Given the description of an element on the screen output the (x, y) to click on. 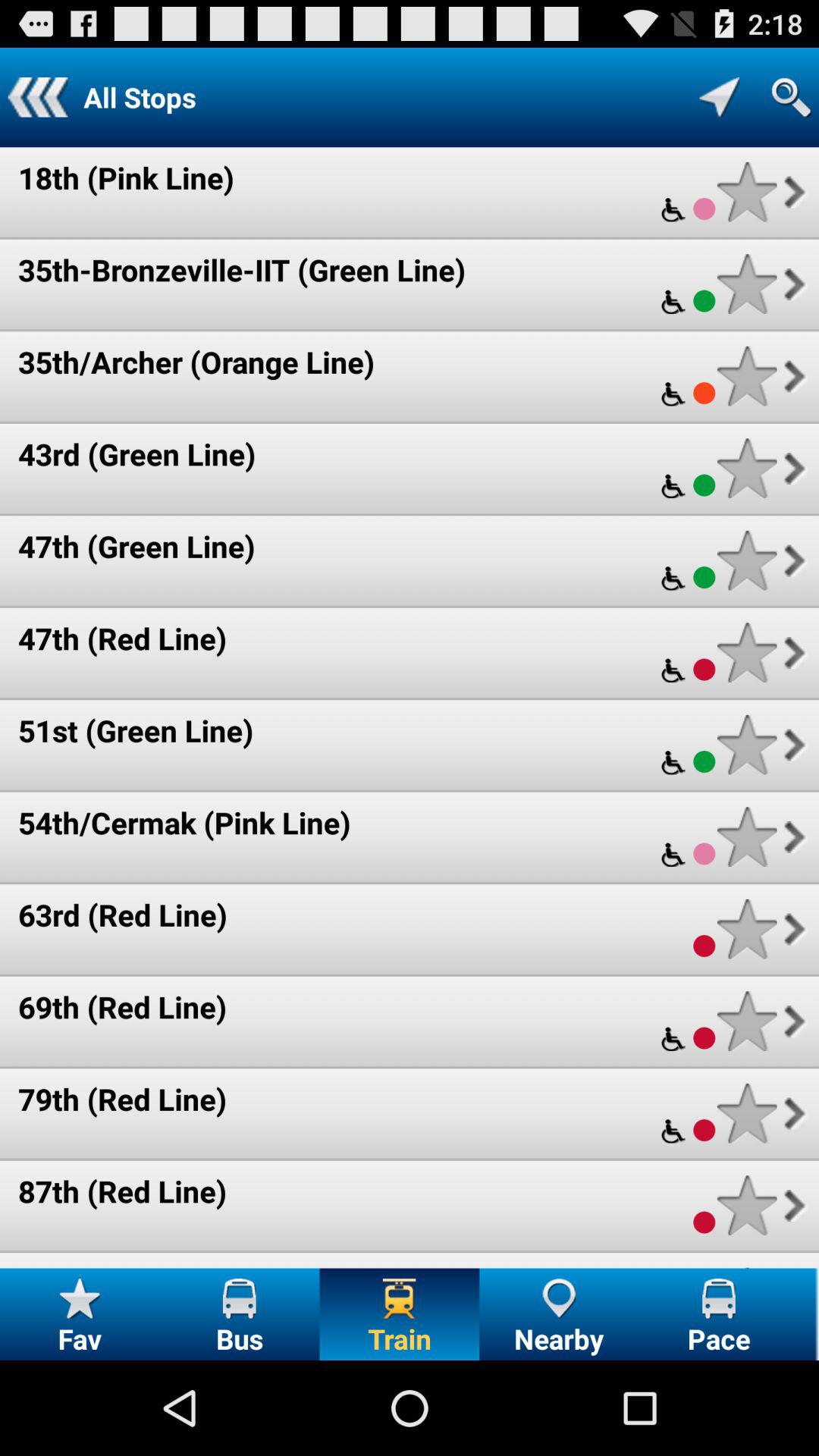
navigation (719, 97)
